Given the description of an element on the screen output the (x, y) to click on. 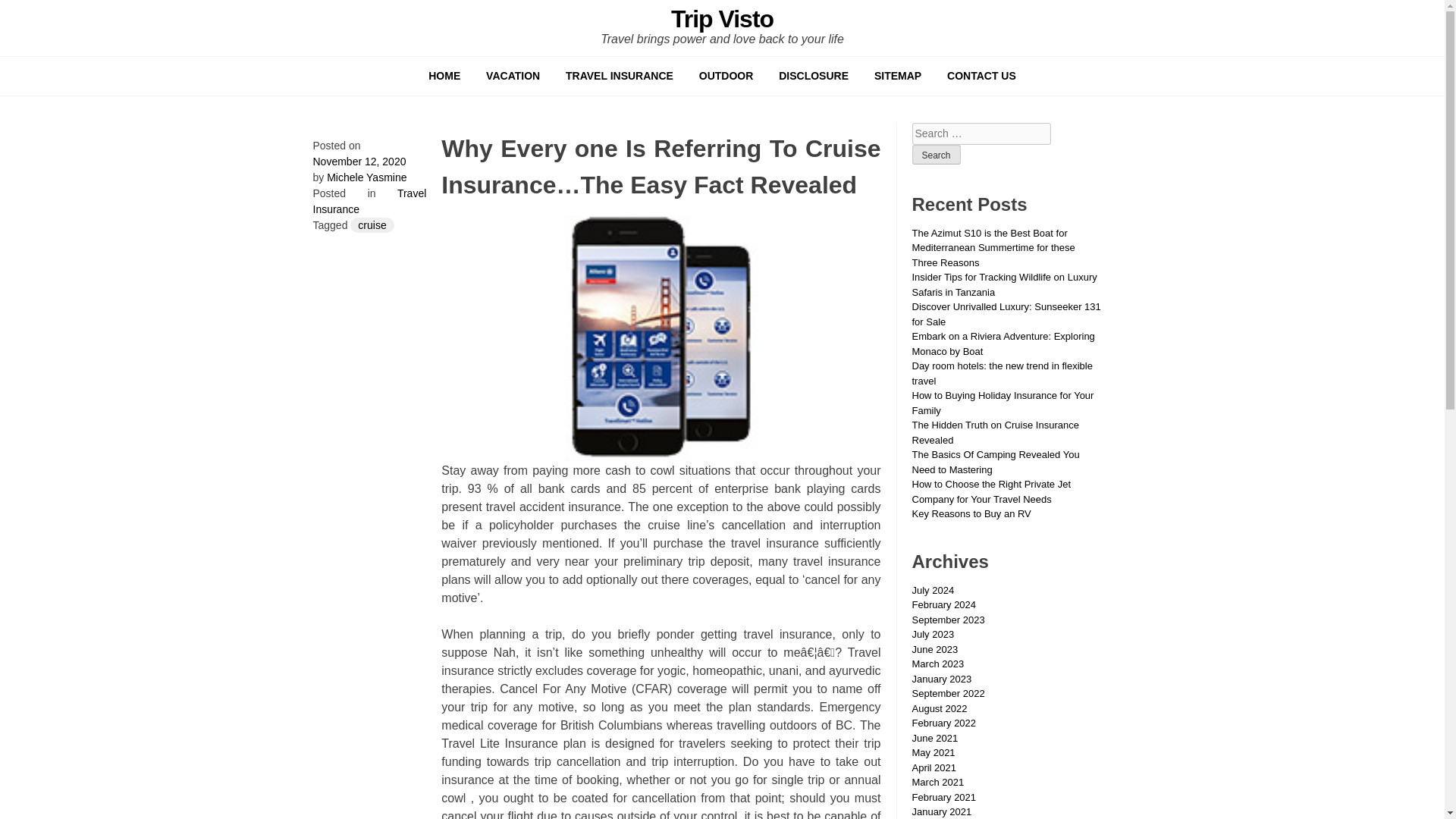
Discover Unrivalled Luxury: Sunseeker 131 for Sale (1005, 314)
Search (935, 154)
Day room hotels: the new trend in flexible travel (1001, 373)
TRAVEL INSURANCE (619, 75)
February 2022 (943, 722)
VACATION (512, 75)
cruise (371, 224)
September 2023 (947, 619)
Key Reasons to Buy an RV (970, 513)
Search (935, 154)
January 2023 (941, 678)
CONTACT US (981, 75)
DISCLOSURE (813, 75)
